Given the description of an element on the screen output the (x, y) to click on. 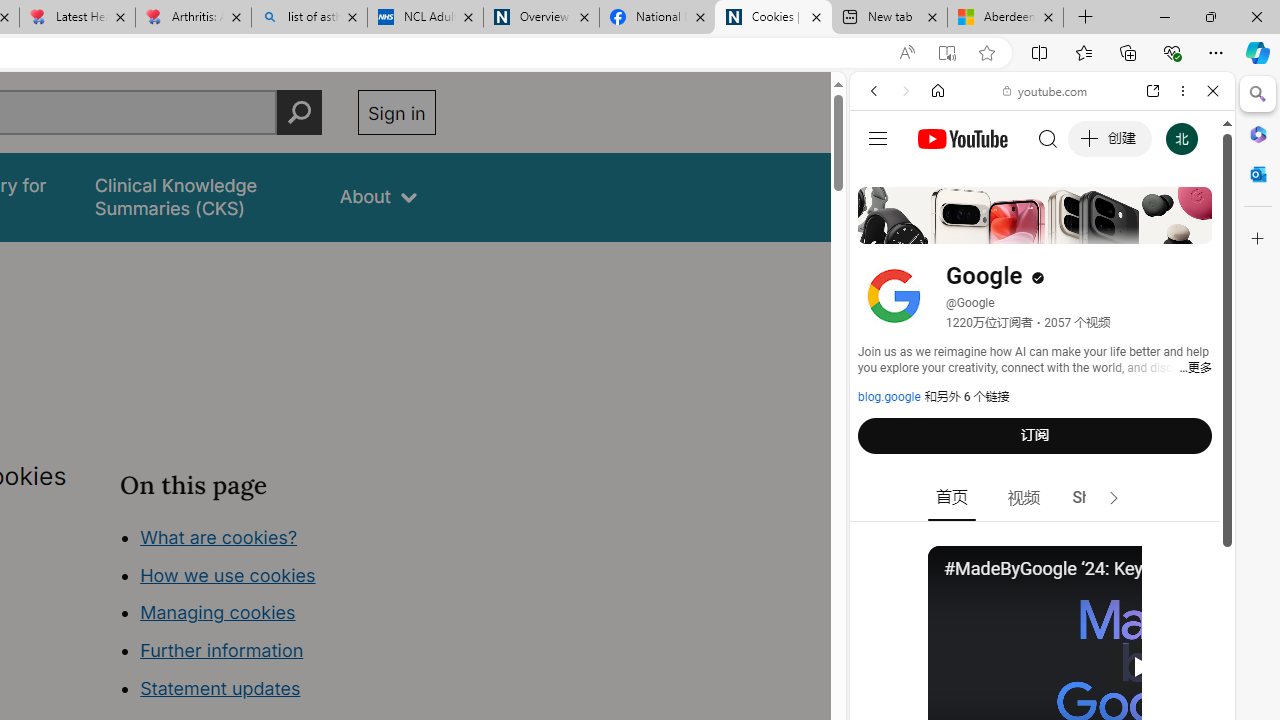
Class: style-scope tp-yt-iron-icon (1114, 498)
Trailer #2 [HD] (1042, 592)
Further information (221, 650)
Music (1042, 543)
VIDEOS (1006, 228)
Google (1042, 494)
About (378, 196)
Search Filter, Search Tools (1093, 228)
Class: in-page-nav__list (277, 615)
AutomationID: right (1113, 497)
